Given the description of an element on the screen output the (x, y) to click on. 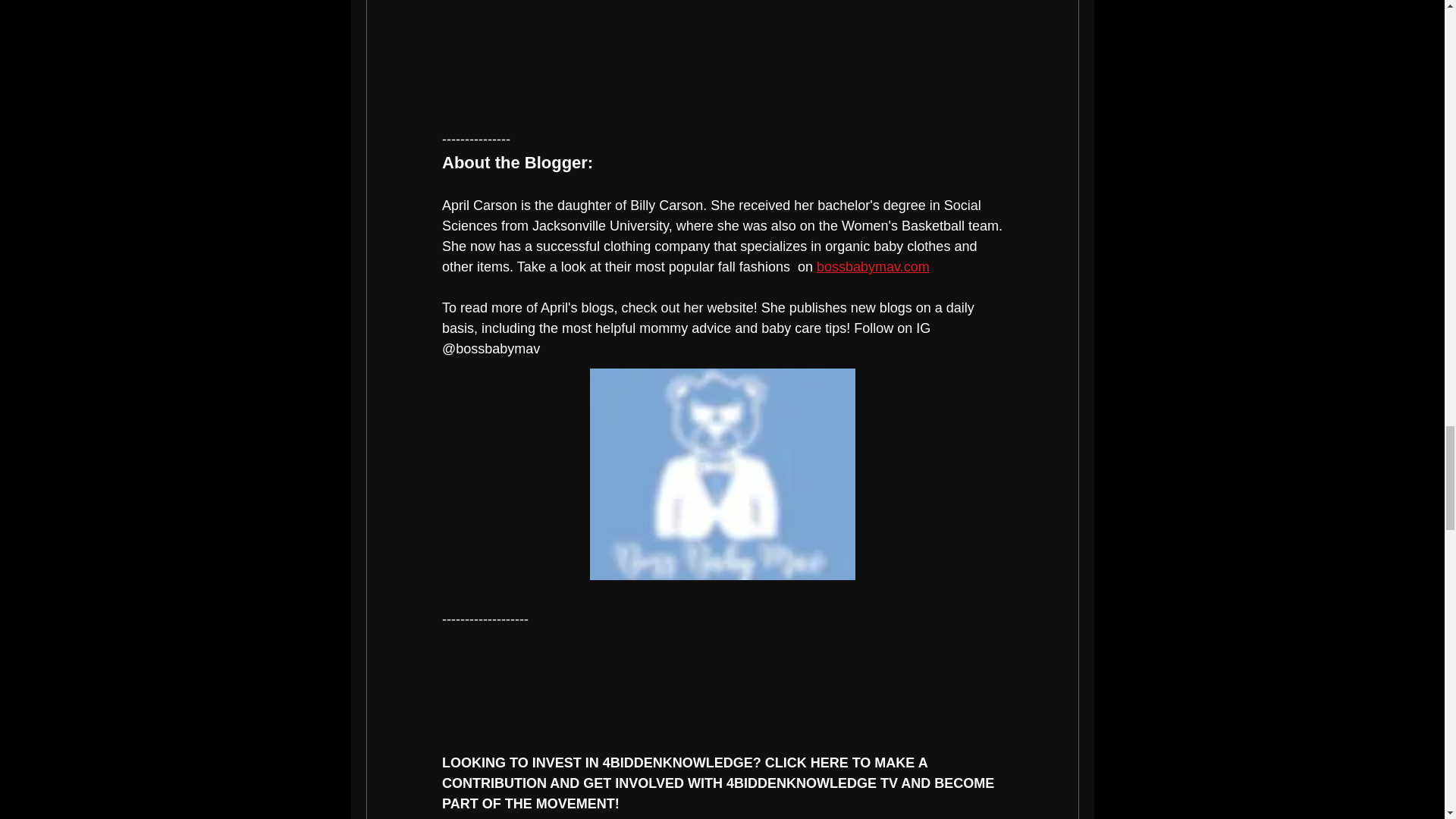
bossbabymav.com (871, 266)
